Given the description of an element on the screen output the (x, y) to click on. 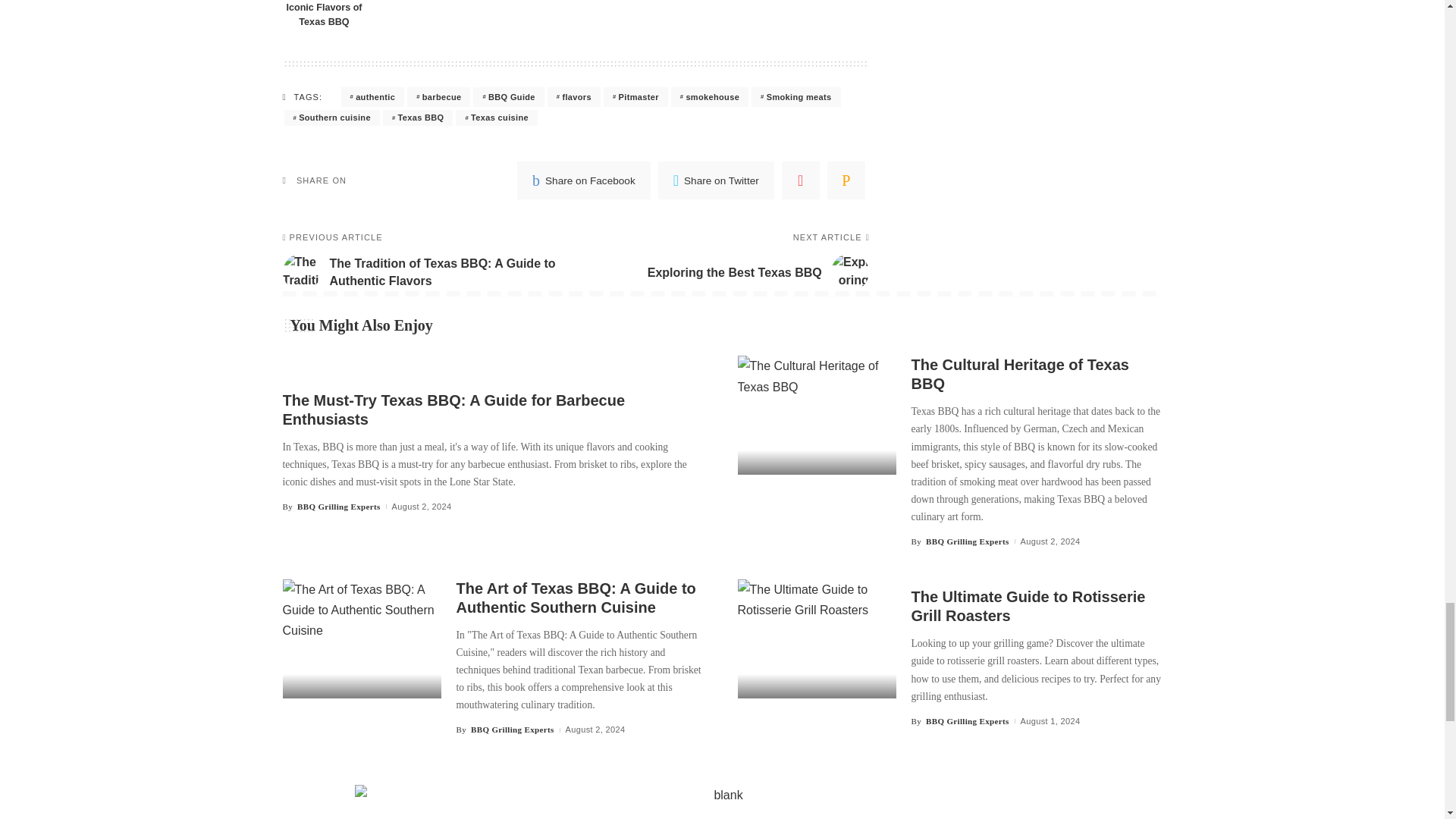
Smoking meats (795, 96)
authentic (372, 96)
barbecue (438, 96)
Texas BBQ (417, 117)
Pitmaster (636, 96)
BBQ Guide (508, 96)
Southern cuisine (330, 117)
authentic (372, 96)
flavors (573, 96)
smokehouse (709, 96)
